Given the description of an element on the screen output the (x, y) to click on. 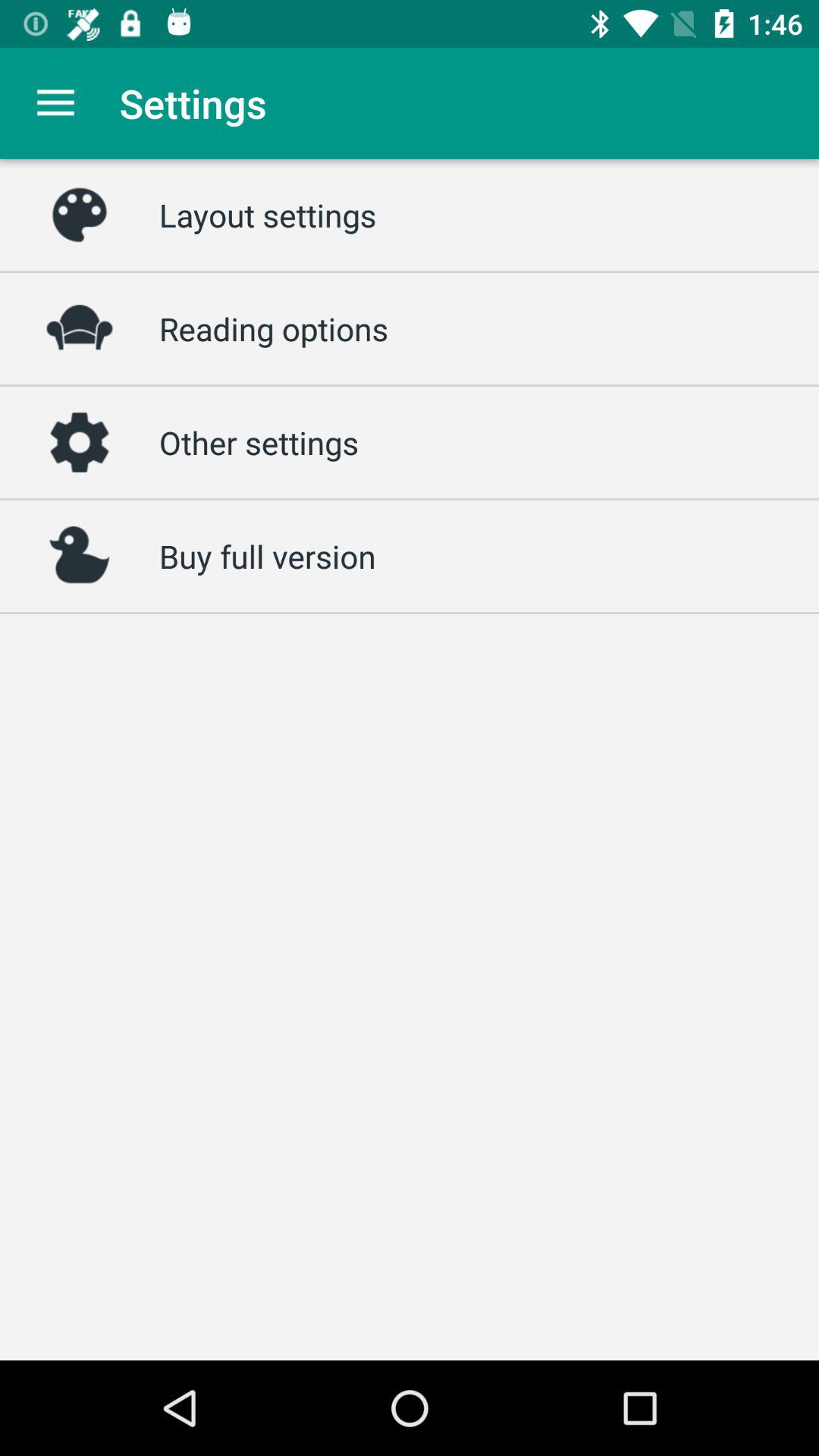
flip until the other settings icon (258, 442)
